Given the description of an element on the screen output the (x, y) to click on. 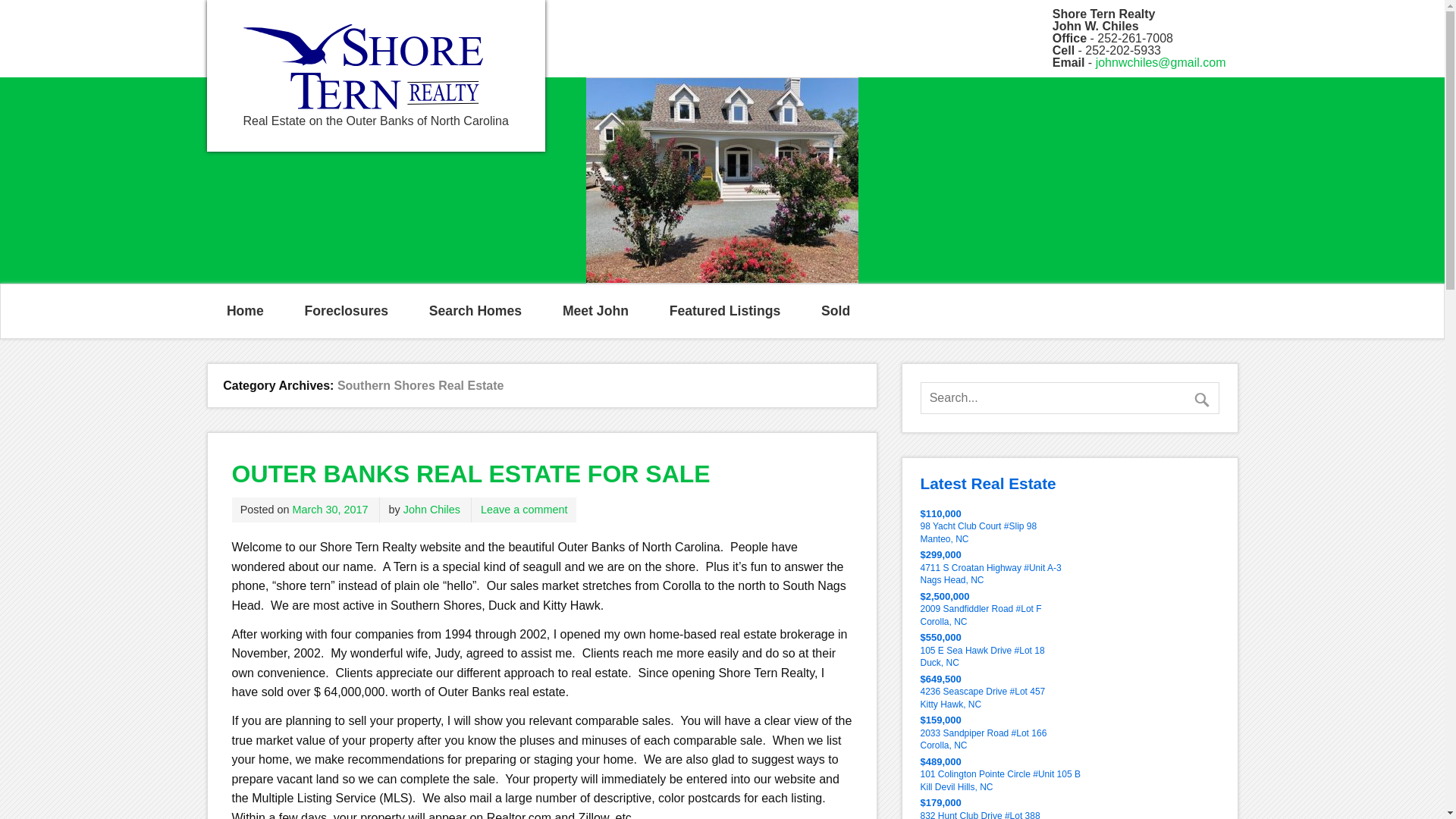
View all posts by John Chiles (431, 509)
Home (244, 310)
3:33 pm (330, 509)
Sold (836, 310)
OUTER BANKS REAL ESTATE FOR SALE (470, 473)
March 30, 2017 (330, 509)
Search Homes (475, 310)
Foreclosures (345, 310)
John Chiles (431, 509)
Meet John (594, 310)
Featured Listings (724, 310)
Leave a comment (523, 509)
Shore Tern Realty (362, 104)
